Given the description of an element on the screen output the (x, y) to click on. 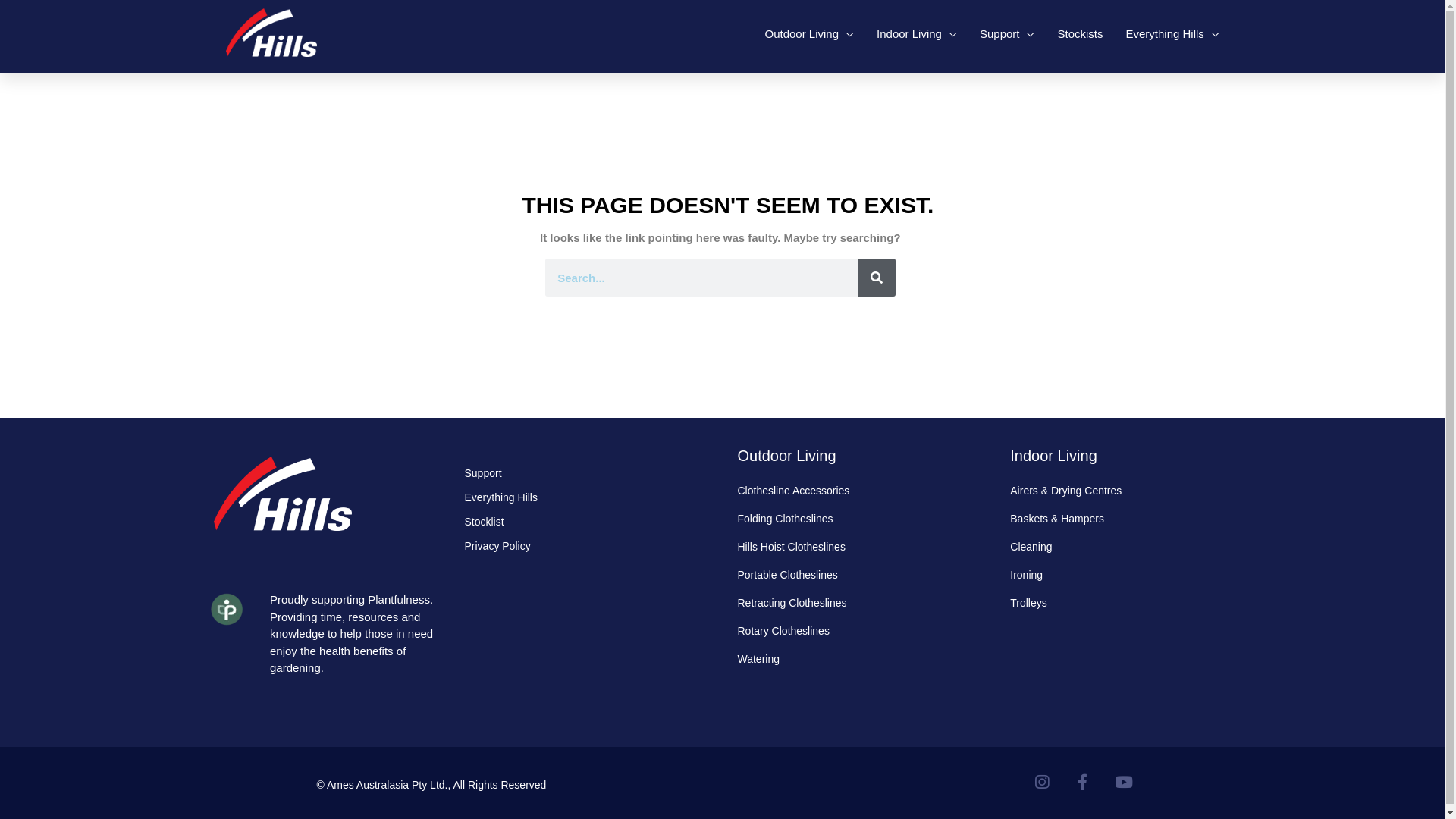
Instagram Element type: text (1041, 781)
Clothesline Accessories Element type: text (857, 490)
Portable Clotheslines Element type: text (857, 574)
Privacy Policy Element type: text (584, 545)
Indoor Living Element type: text (1053, 455)
Stocklist Element type: text (584, 521)
Folding Clotheslines Element type: text (857, 518)
Baskets & Hampers Element type: text (1130, 518)
Facebook-f Element type: text (1082, 781)
Ironing Element type: text (1130, 574)
Watering Element type: text (857, 658)
Youtube Element type: text (1123, 781)
Stockists Element type: text (1079, 33)
Airers & Drying Centres Element type: text (1130, 490)
Support Element type: text (1007, 33)
Retracting Clotheslines Element type: text (857, 602)
Everything Hills Element type: text (1172, 33)
Cleaning Element type: text (1130, 546)
Hills Hoist Clotheslines Element type: text (857, 546)
SEARCH Element type: text (876, 277)
Outdoor Living Element type: text (786, 455)
Rotary Clotheslines Element type: text (857, 630)
Outdoor Living Element type: text (809, 33)
Everything Hills Element type: text (584, 497)
Indoor Living Element type: text (916, 33)
Trolleys Element type: text (1130, 602)
PLANTFULNESS LOGO _Brandmark in circle Element type: hover (226, 609)
Support Element type: text (584, 472)
